Given the description of an element on the screen output the (x, y) to click on. 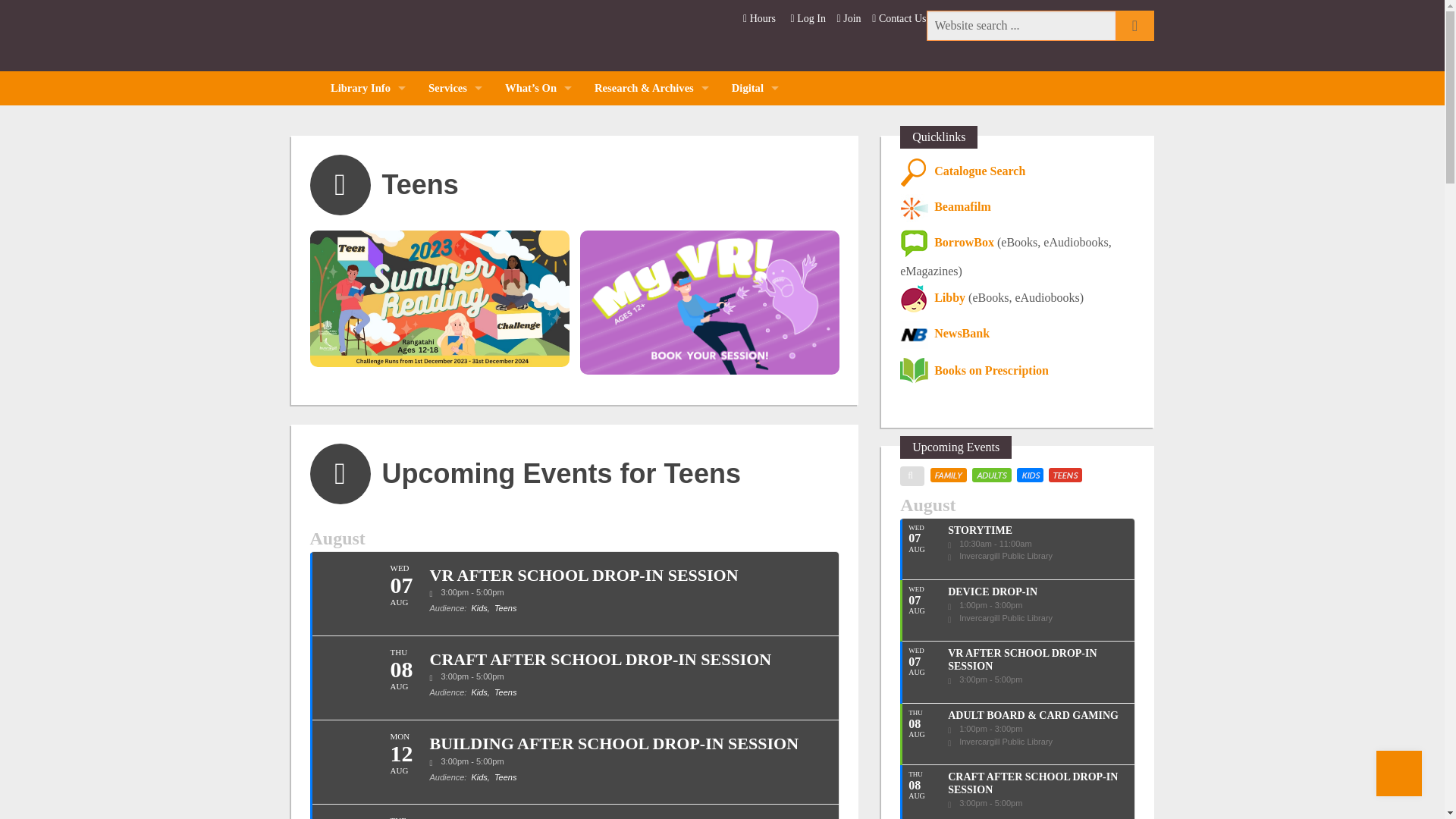
Justice of the Peace (454, 395)
Join (850, 18)
Services (454, 88)
My Book Bag (454, 190)
CV Proofreading (454, 326)
Suggest a Purchase (454, 258)
Invercargill City Libraries and Archives (408, 37)
Hours (759, 18)
Skinny Jump (454, 463)
Interloans (454, 156)
